Given the description of an element on the screen output the (x, y) to click on. 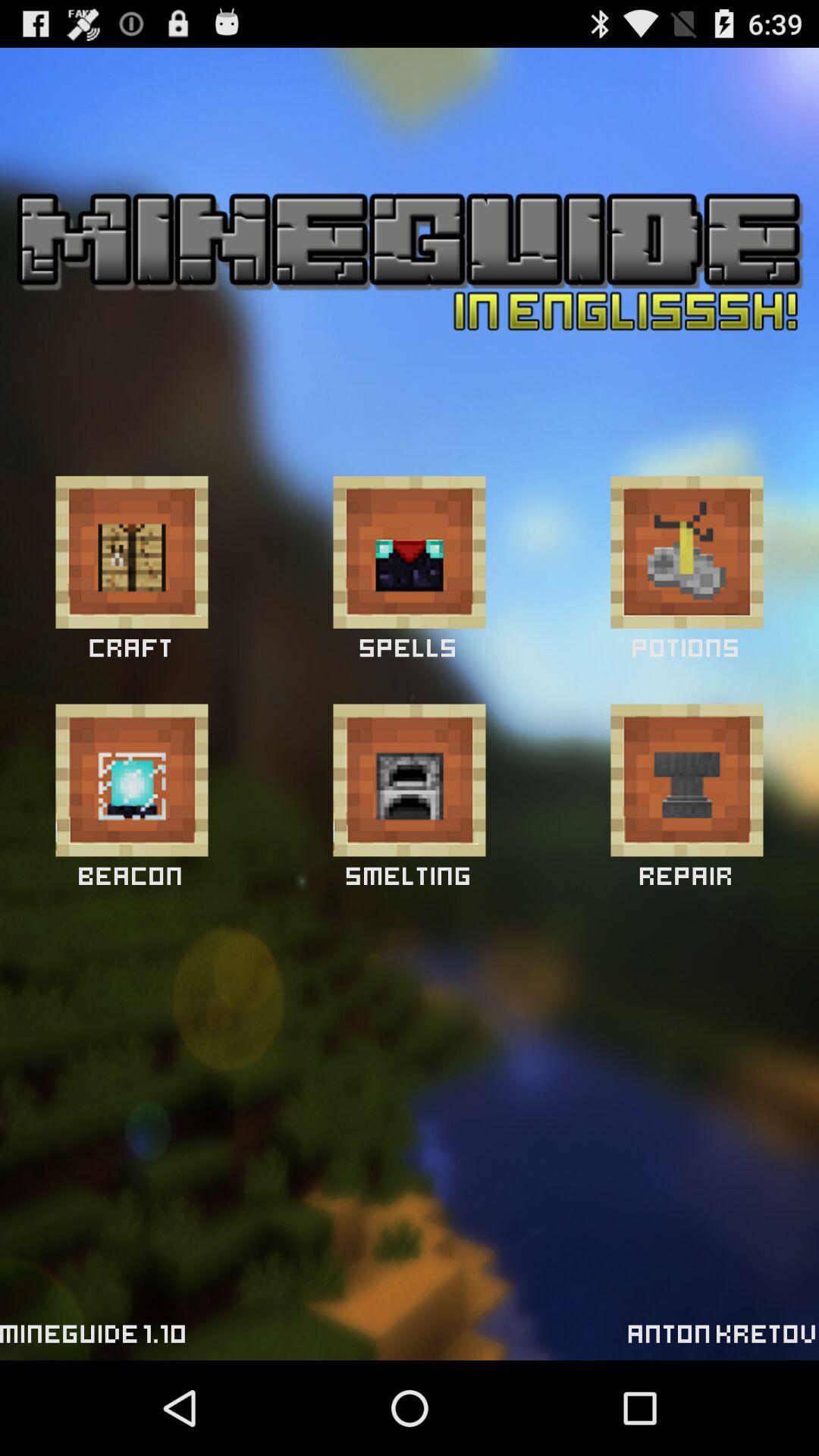
tap icon below potions icon (686, 780)
